Given the description of an element on the screen output the (x, y) to click on. 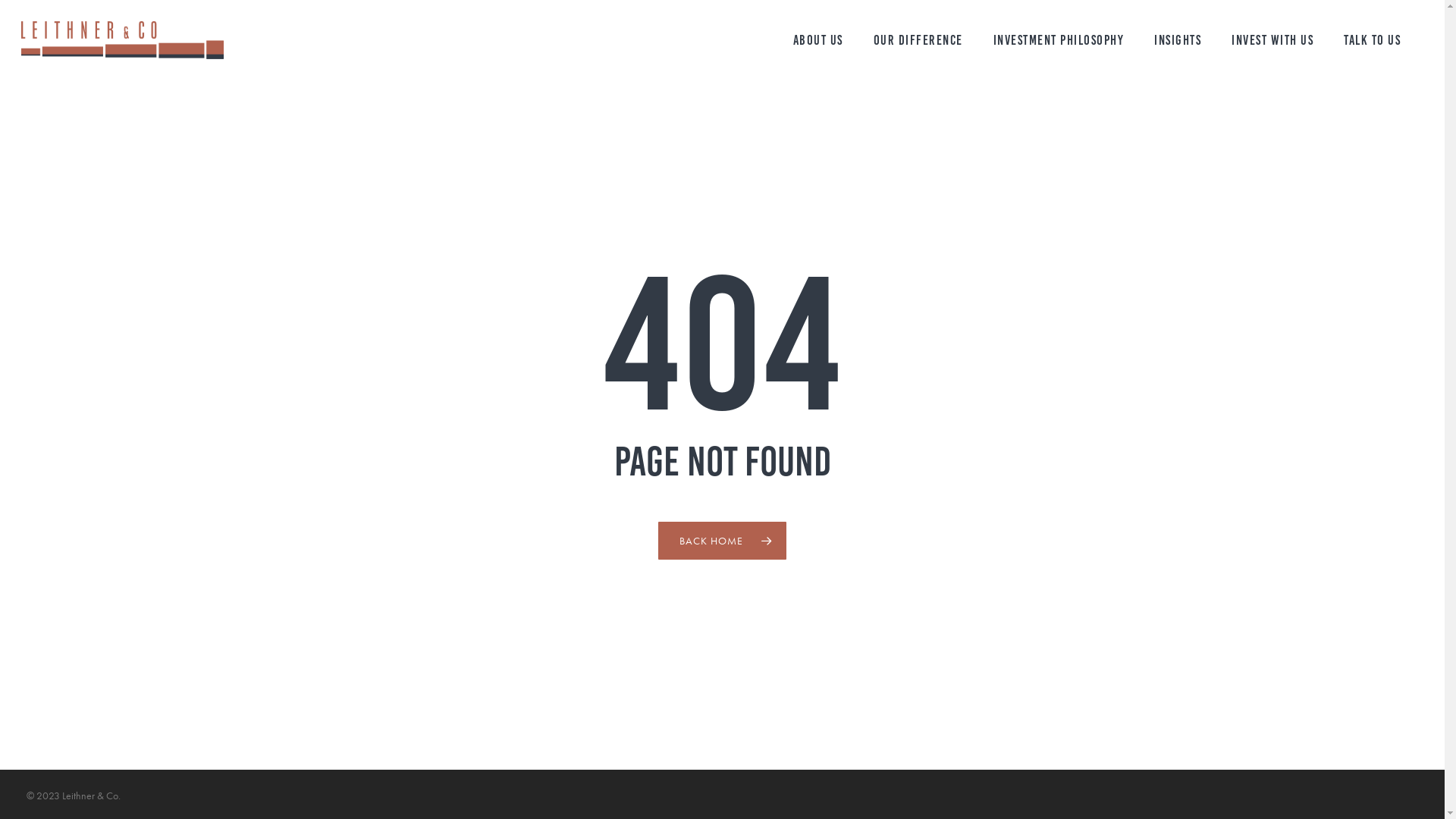
OUR DIFFERENCE Element type: text (918, 40)
BACK HOME Element type: text (722, 540)
ABOUT US Element type: text (818, 40)
INVESTMENT PHILOSOPHY Element type: text (1058, 40)
INSIGHTS Element type: text (1177, 40)
TALK TO US Element type: text (1371, 40)
INVEST WITH US Element type: text (1272, 40)
